Given the description of an element on the screen output the (x, y) to click on. 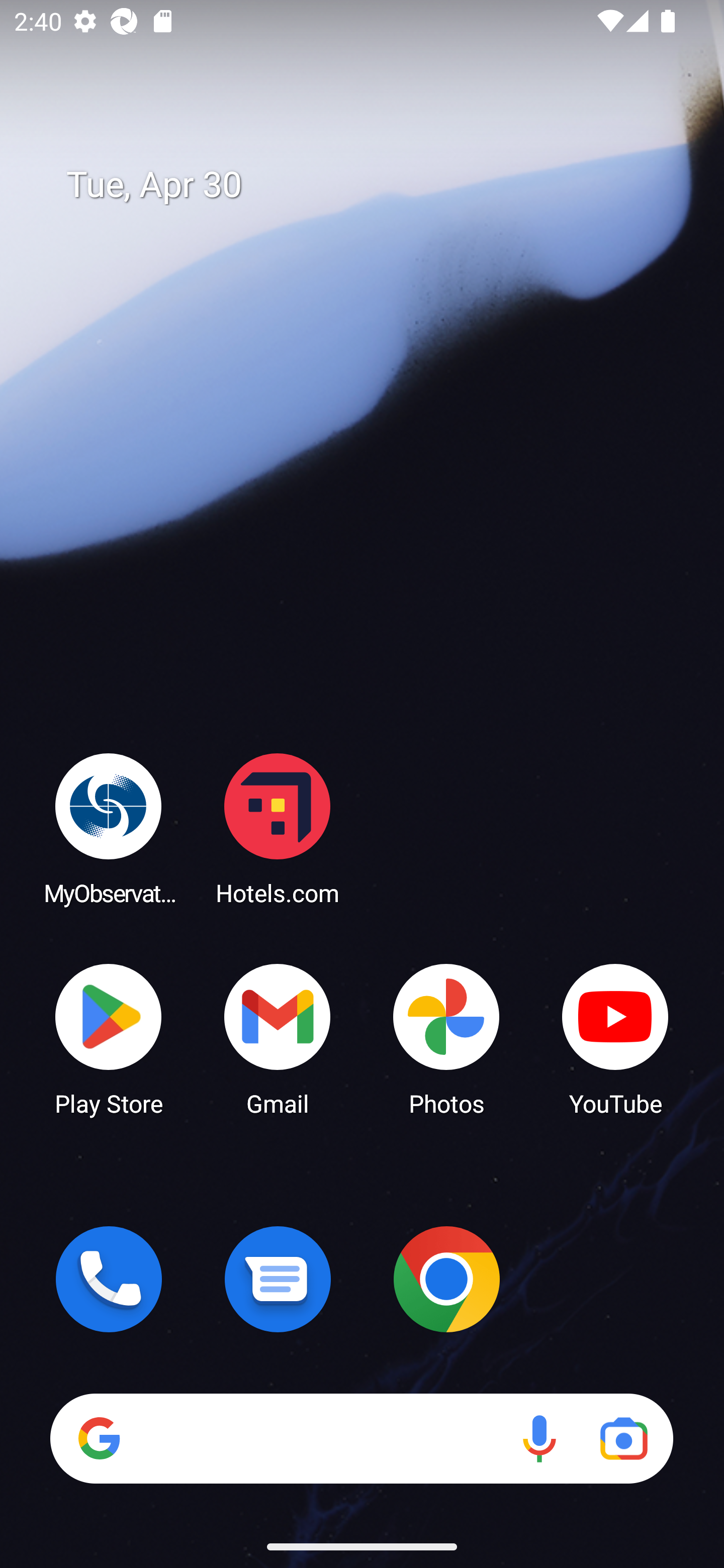
Tue, Apr 30 (375, 184)
MyObservatory (108, 828)
Hotels.com (277, 828)
Play Store (108, 1038)
Gmail (277, 1038)
Photos (445, 1038)
YouTube (615, 1038)
Phone (108, 1279)
Messages (277, 1279)
Chrome (446, 1279)
Voice search (539, 1438)
Google Lens (623, 1438)
